Given the description of an element on the screen output the (x, y) to click on. 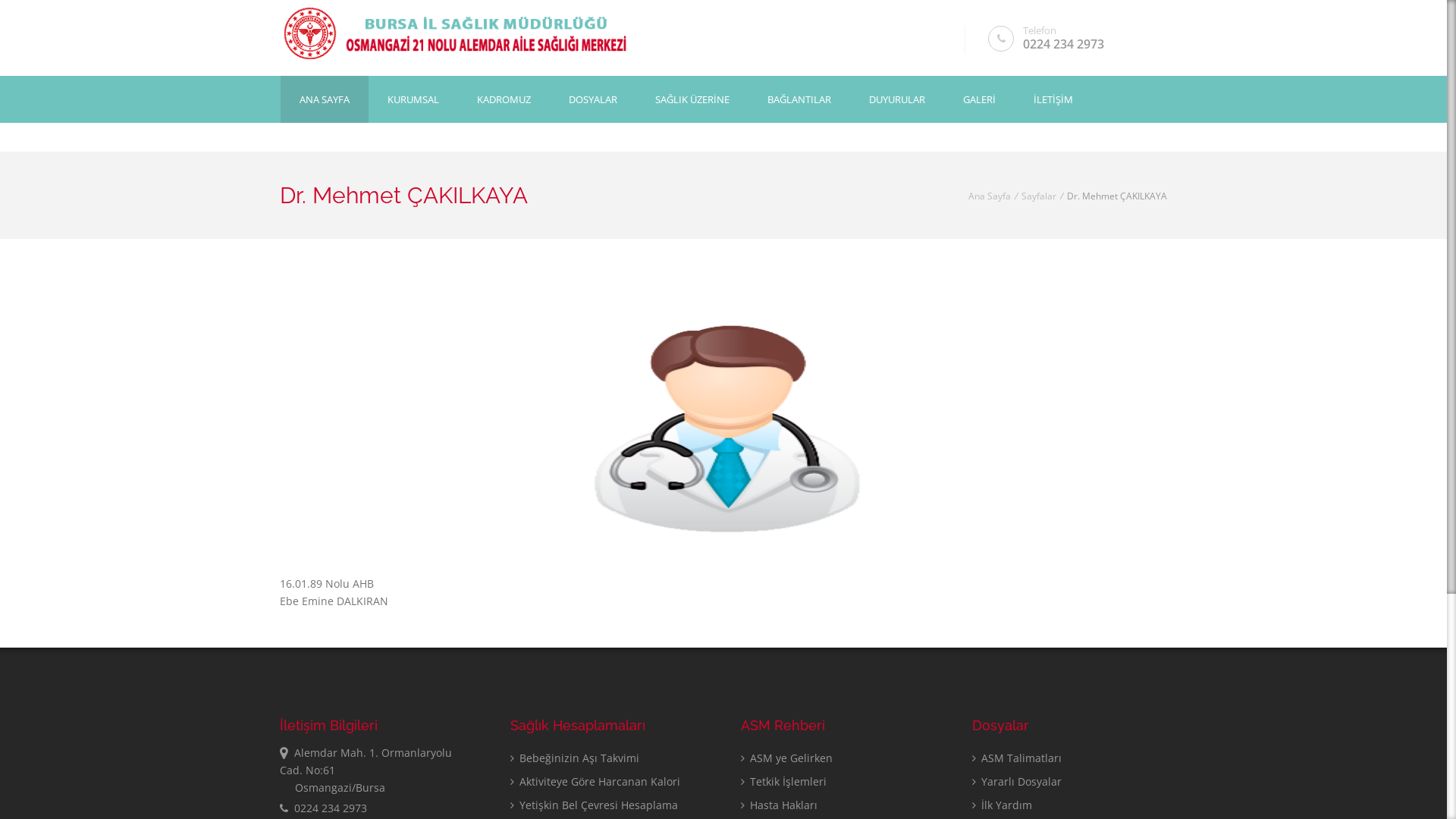
ANA SAYFA Element type: text (324, 98)
Ana Sayfa Element type: text (989, 195)
KURUMSAL Element type: text (413, 98)
Sayfalar Element type: text (1038, 195)
KADROMUZ Element type: text (503, 98)
ASM ye Gelirken Element type: text (786, 757)
DUYURULAR Element type: text (897, 98)
DOSYALAR Element type: text (592, 98)
